Given the description of an element on the screen output the (x, y) to click on. 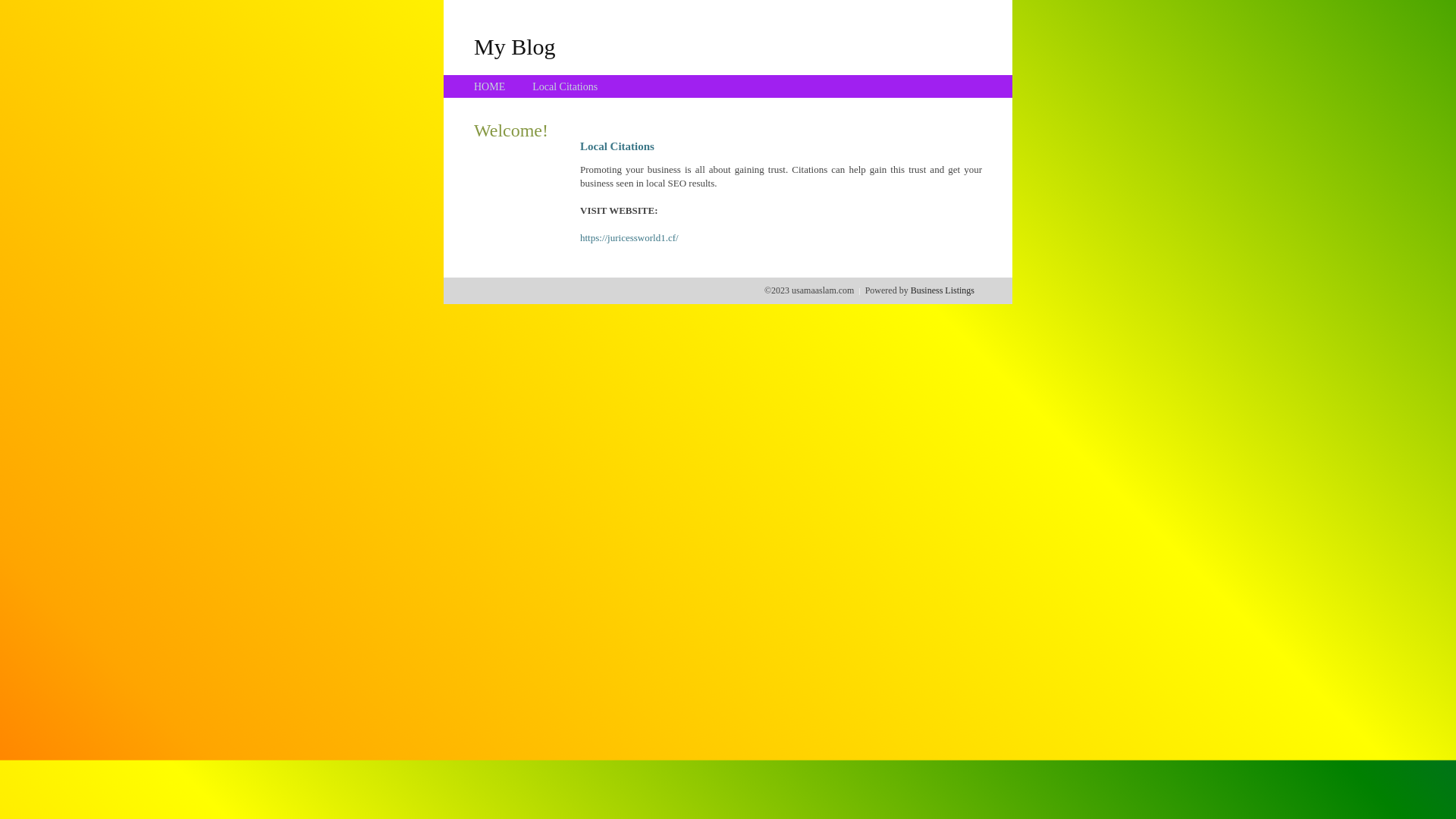
HOME Element type: text (489, 86)
My Blog Element type: text (514, 46)
Local Citations Element type: text (564, 86)
https://juricessworld1.cf/ Element type: text (629, 237)
Business Listings Element type: text (942, 290)
